Given the description of an element on the screen output the (x, y) to click on. 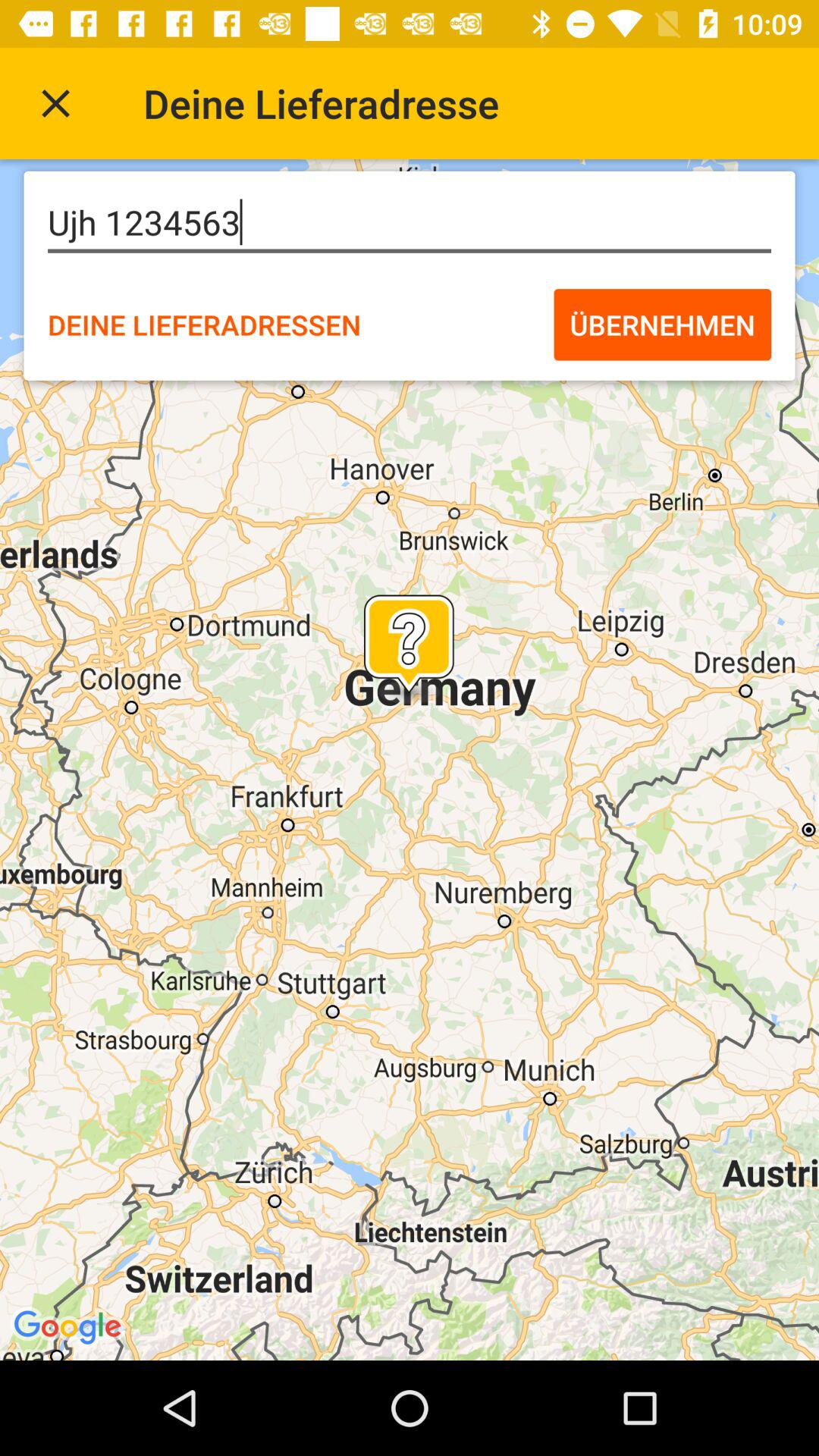
exit page (55, 103)
